Given the description of an element on the screen output the (x, y) to click on. 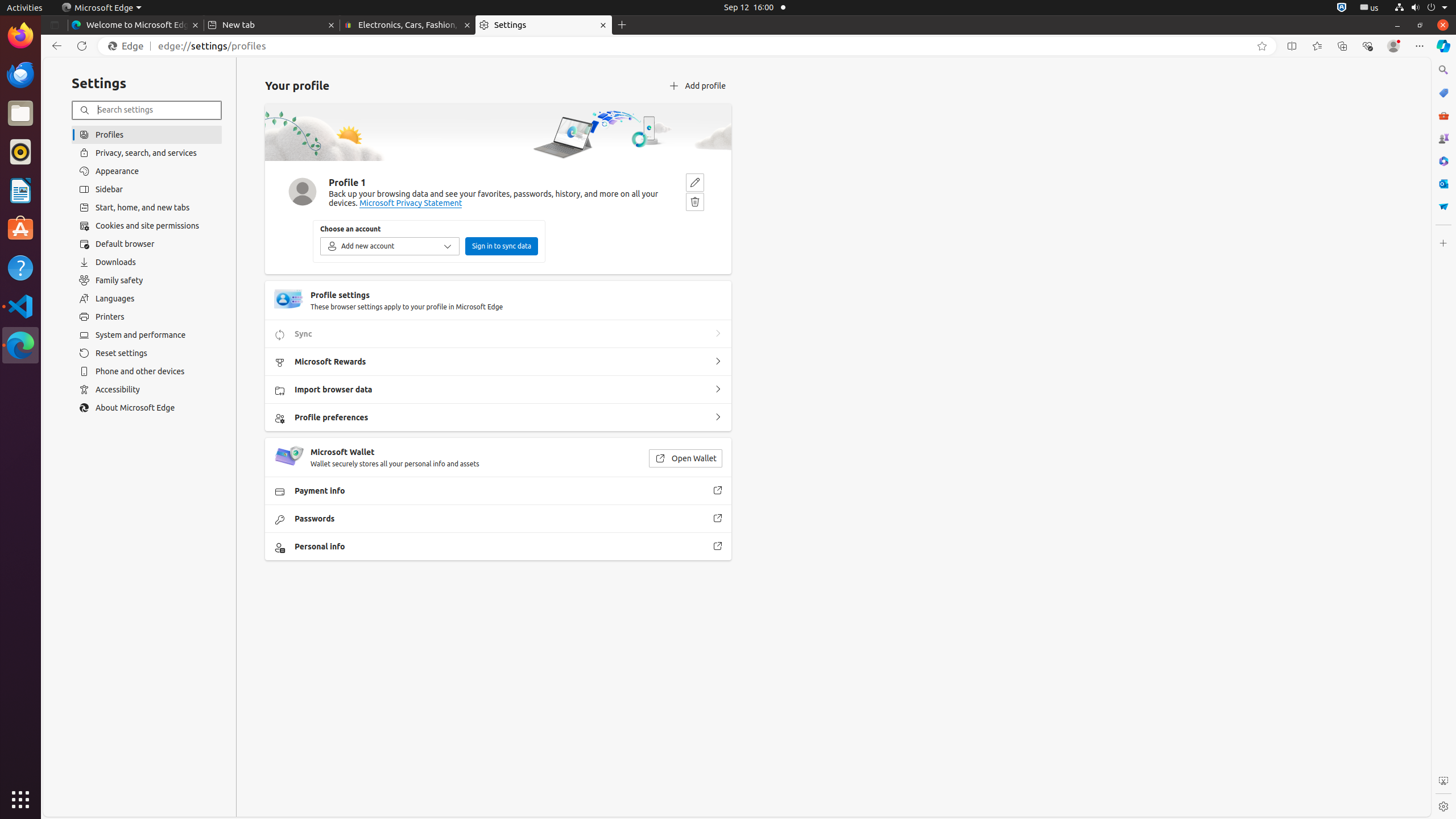
Split screen Element type: push-button (1291, 45)
Rhythmbox Element type: push-button (20, 151)
System Element type: menu (1420, 7)
Languages Element type: tree-item (146, 298)
Personal info Element type: push-button (717, 546)
